Given the description of an element on the screen output the (x, y) to click on. 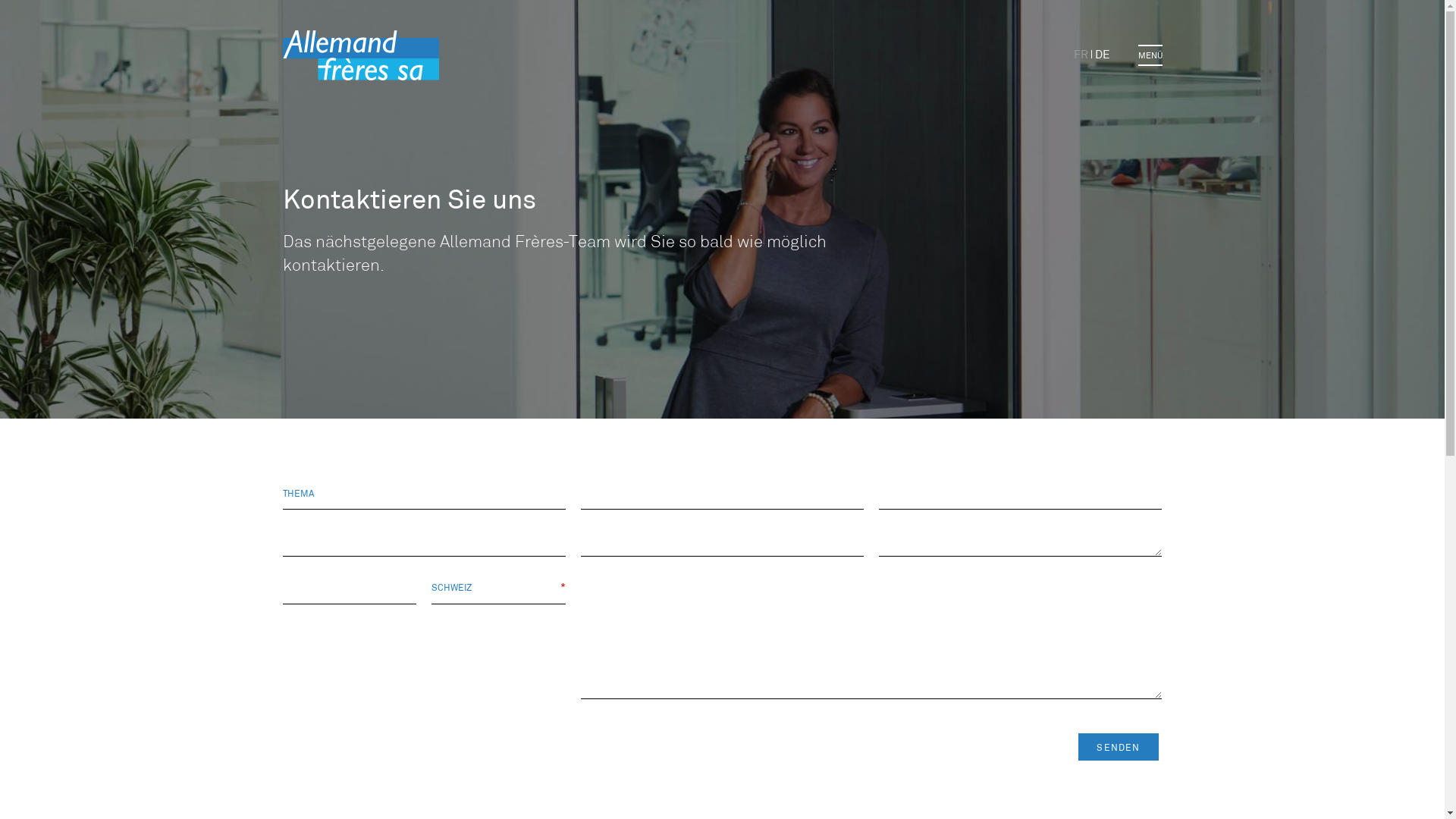
DE Element type: text (1102, 55)
SENDEN Element type: text (1117, 746)
FR Element type: text (1081, 55)
